Given the description of an element on the screen output the (x, y) to click on. 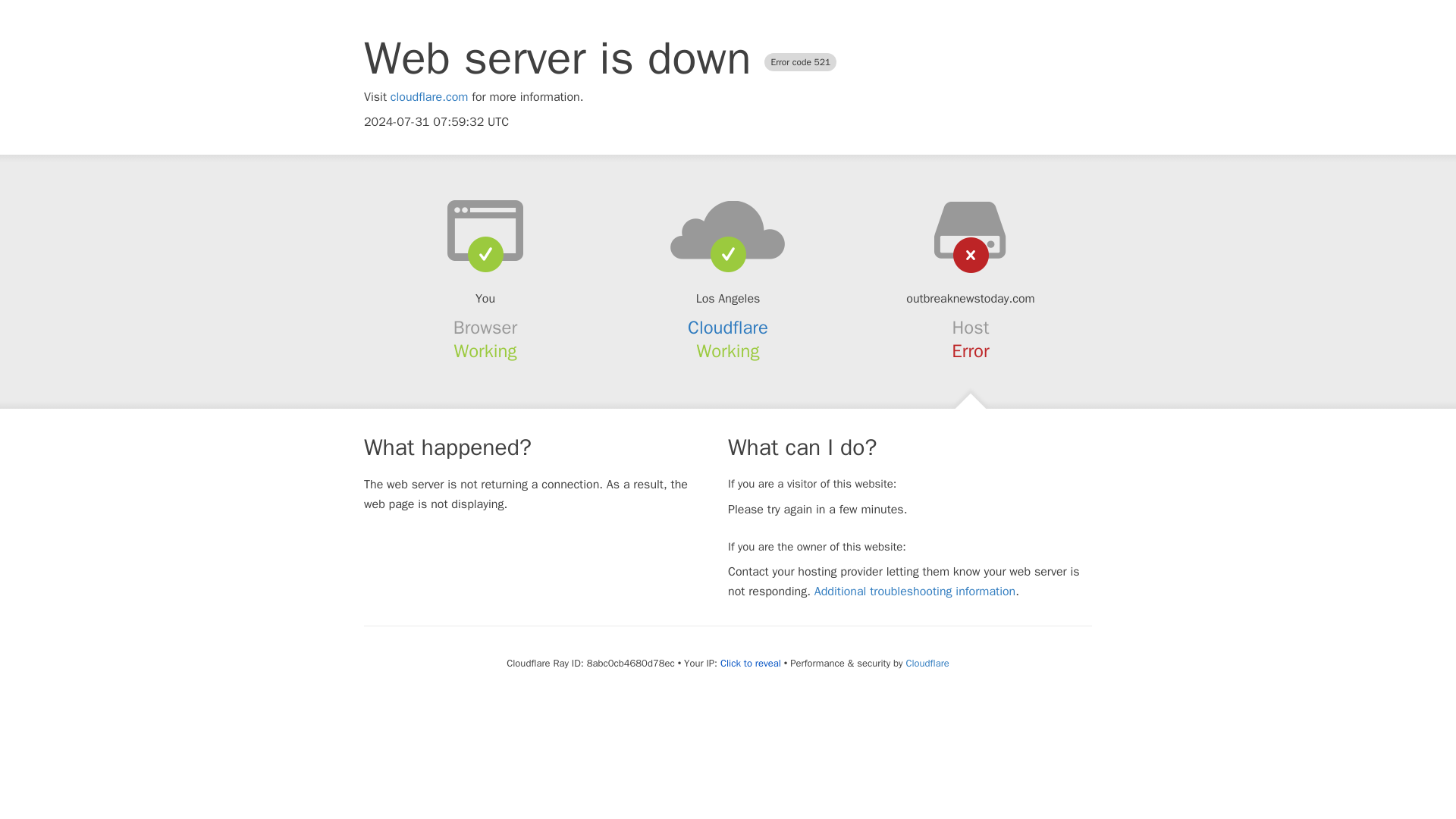
Cloudflare (727, 327)
cloudflare.com (429, 96)
Additional troubleshooting information (913, 590)
Cloudflare (927, 662)
Click to reveal (750, 663)
